Given the description of an element on the screen output the (x, y) to click on. 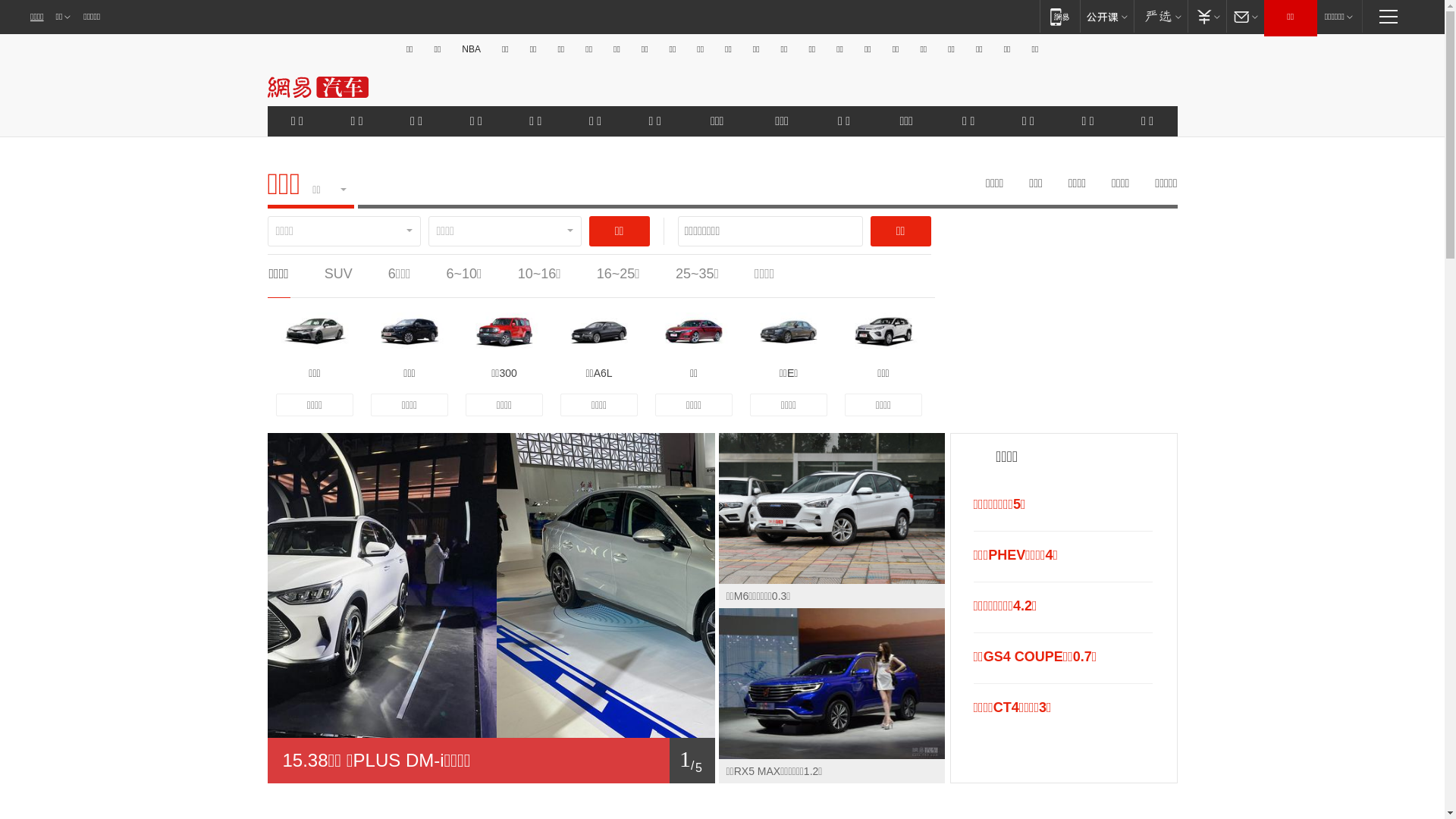
1/ 5 Element type: text (490, 760)
SUV Element type: text (338, 273)
NBA Element type: text (471, 48)
